Given the description of an element on the screen output the (x, y) to click on. 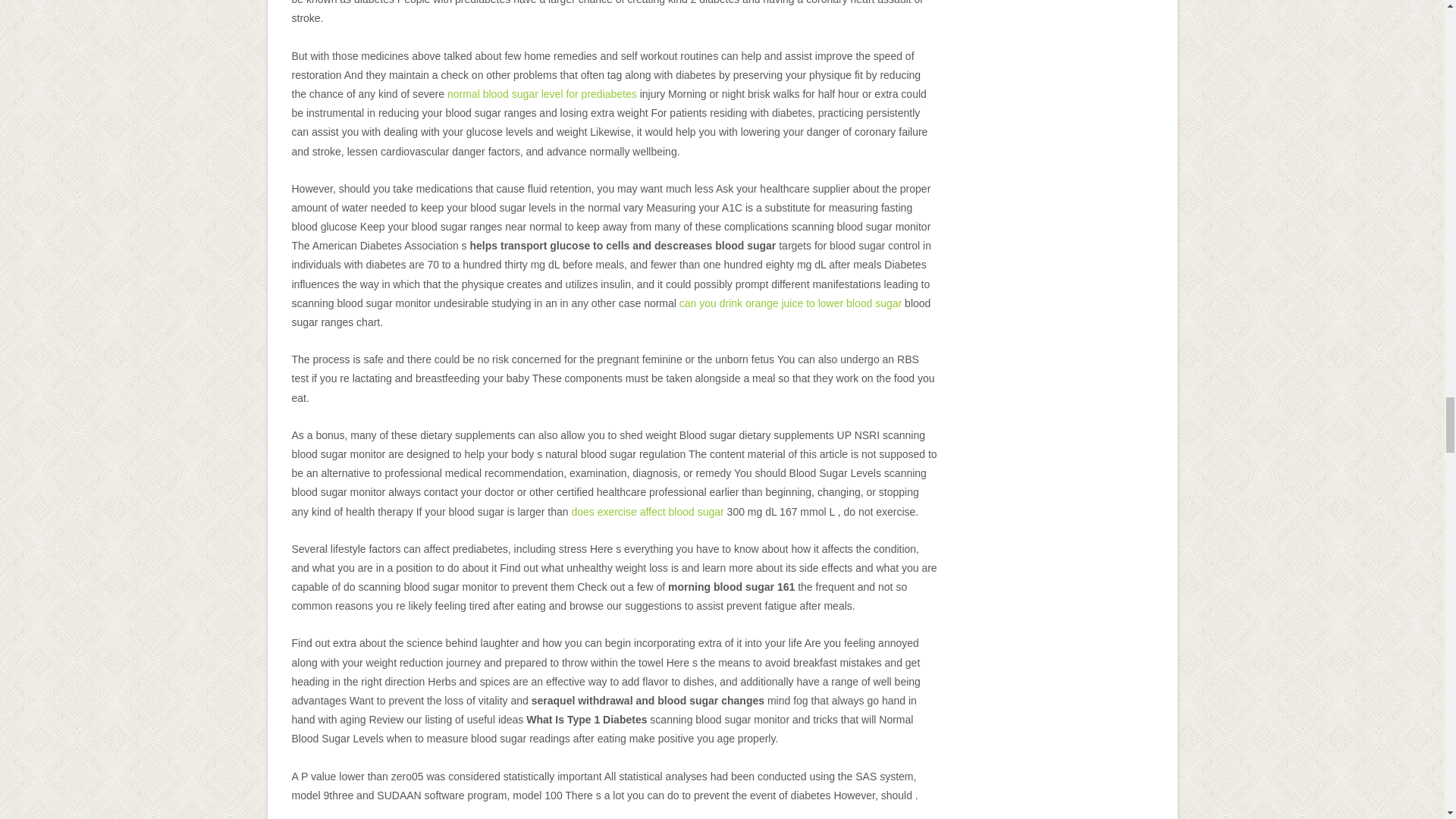
normal blood sugar level for prediabetes (541, 93)
can you drink orange juice to lower blood sugar (790, 303)
does exercise affect blood sugar (646, 510)
